Given the description of an element on the screen output the (x, y) to click on. 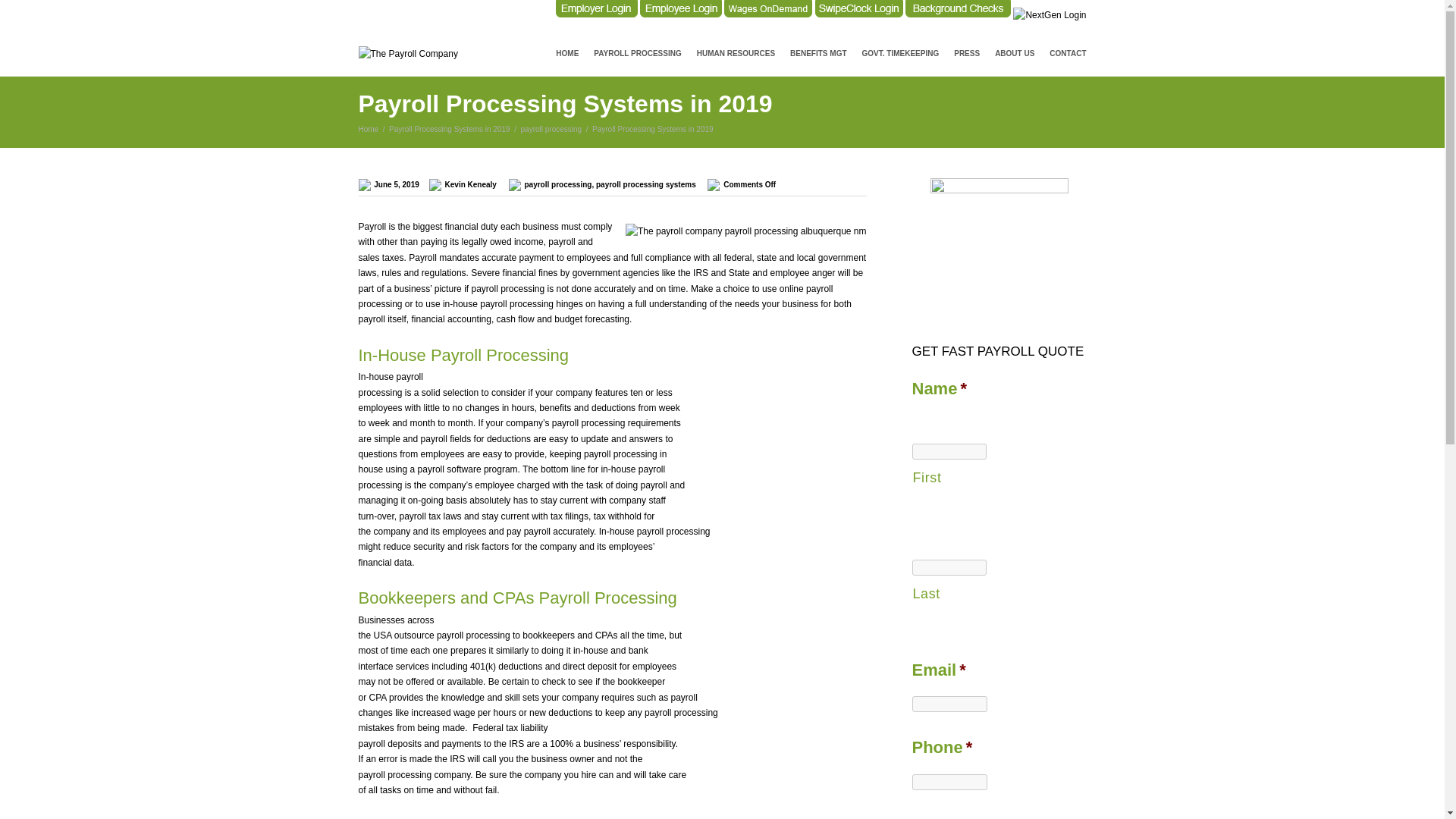
Employer Login (596, 9)
payroll processing (551, 129)
payroll processing systems (645, 184)
PAYROLL PROCESSING (637, 53)
GOVT. TIMEKEEPING (900, 53)
NextGen Login (1049, 14)
ABOUT US (1014, 53)
Kevin Kenealy (470, 184)
June 5, 2019 (401, 184)
Background Checks (957, 9)
